Given the description of an element on the screen output the (x, y) to click on. 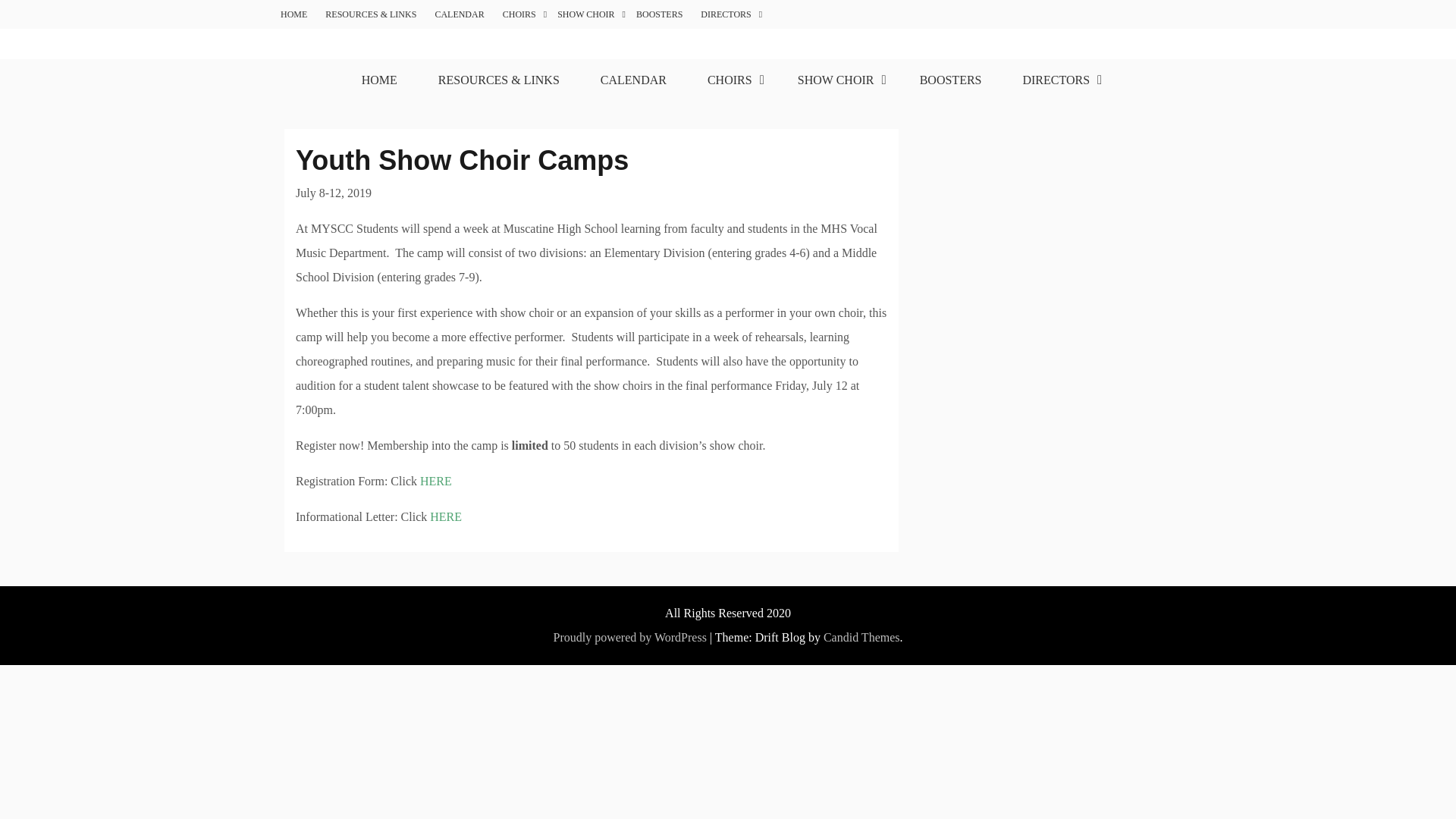
DIRECTORS (1057, 79)
HOME (379, 79)
CHOIRS (731, 79)
DIRECTORS (727, 14)
Proudly powered by WordPress (629, 636)
HERE (445, 515)
SHOW CHOIR (587, 14)
BOOSTERS (950, 79)
Muscatine High School Choirs (458, 67)
SHOW CHOIR (837, 79)
